Given the description of an element on the screen output the (x, y) to click on. 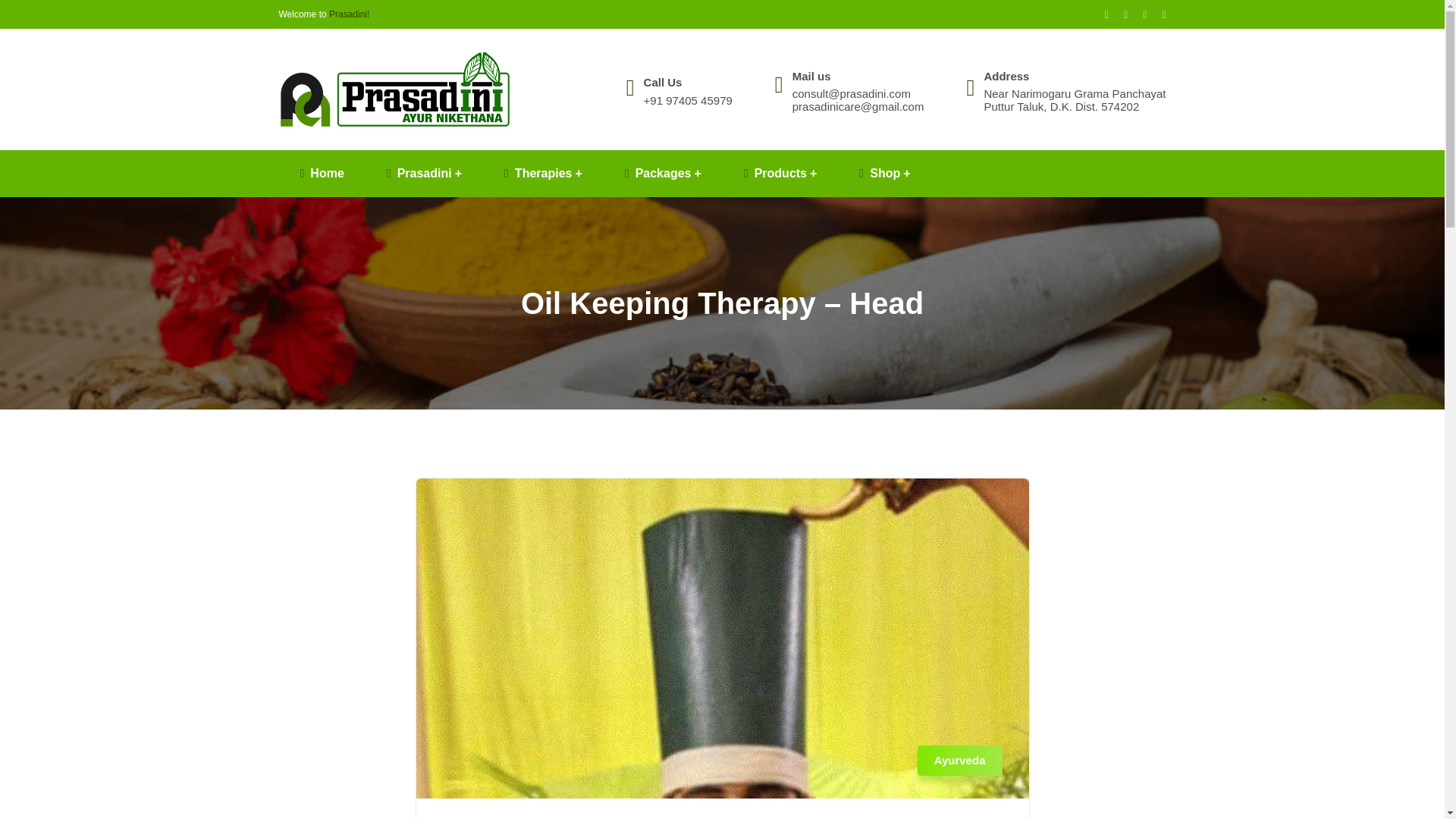
Refund and Returns Policy (1122, 788)
Home (322, 173)
Privacy Policy (1206, 788)
Prasadini (424, 173)
Therapies (543, 173)
Prasadini Ayurnikethana (395, 88)
